Given the description of an element on the screen output the (x, y) to click on. 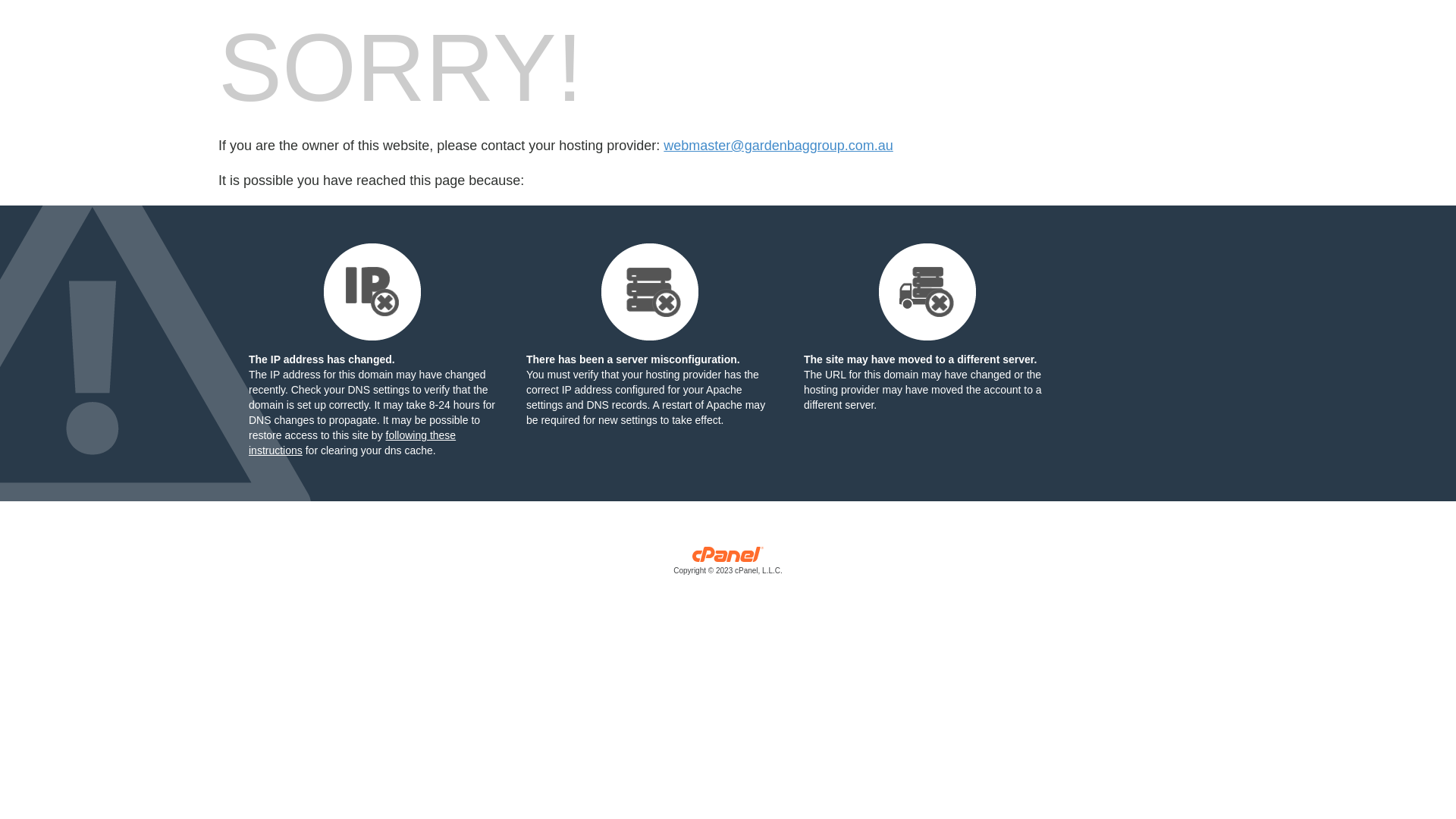
webmaster@gardenbaggroup.com.au Element type: text (777, 145)
following these instructions Element type: text (351, 442)
